Given the description of an element on the screen output the (x, y) to click on. 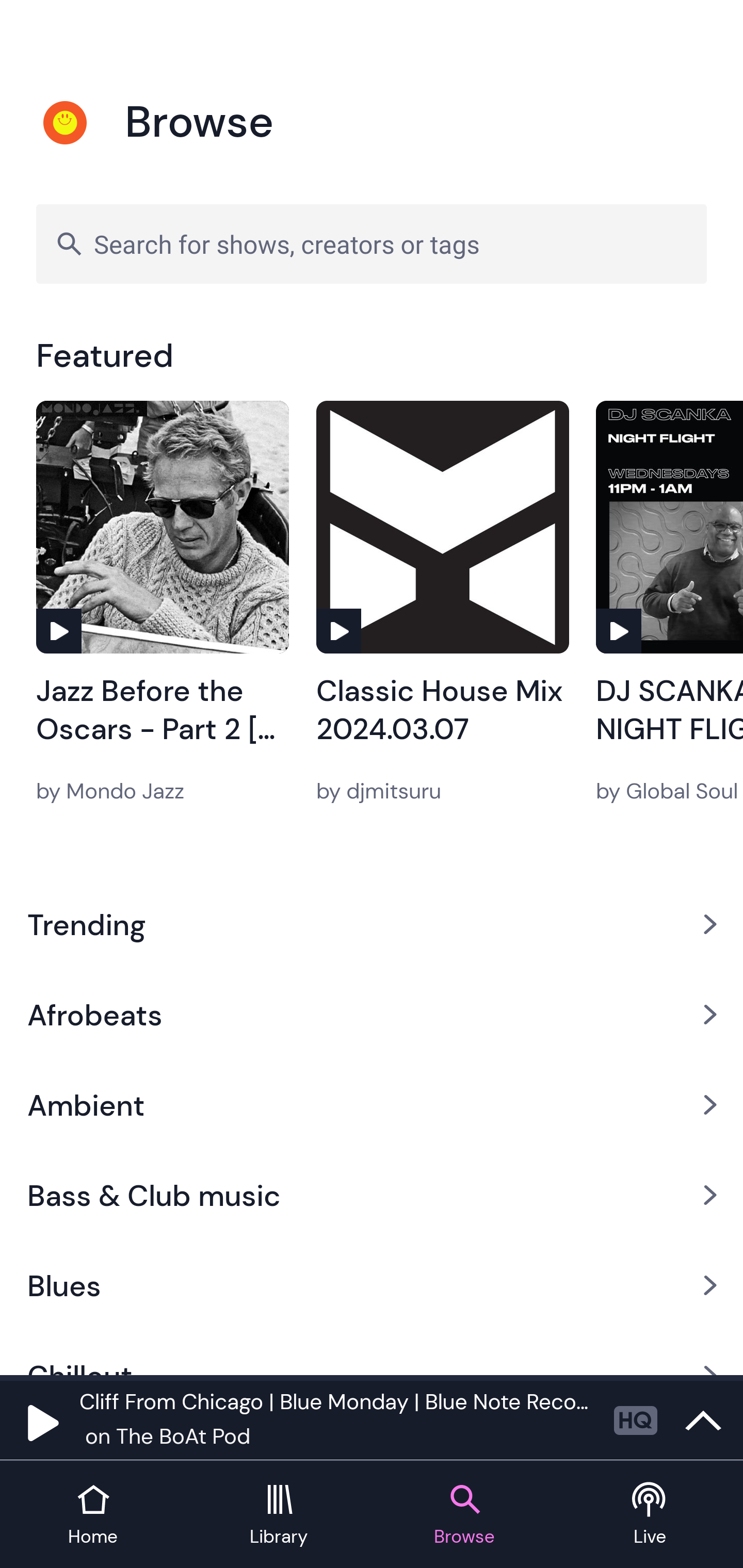
Search for shows, creators or tags (371, 243)
Trending (371, 924)
Afrobeats (371, 1014)
Ambient (371, 1104)
Bass & Club music (371, 1195)
Blues (371, 1285)
Home tab Home (92, 1515)
Library tab Library (278, 1515)
Browse tab Browse (464, 1515)
Live tab Live (650, 1515)
